Given the description of an element on the screen output the (x, y) to click on. 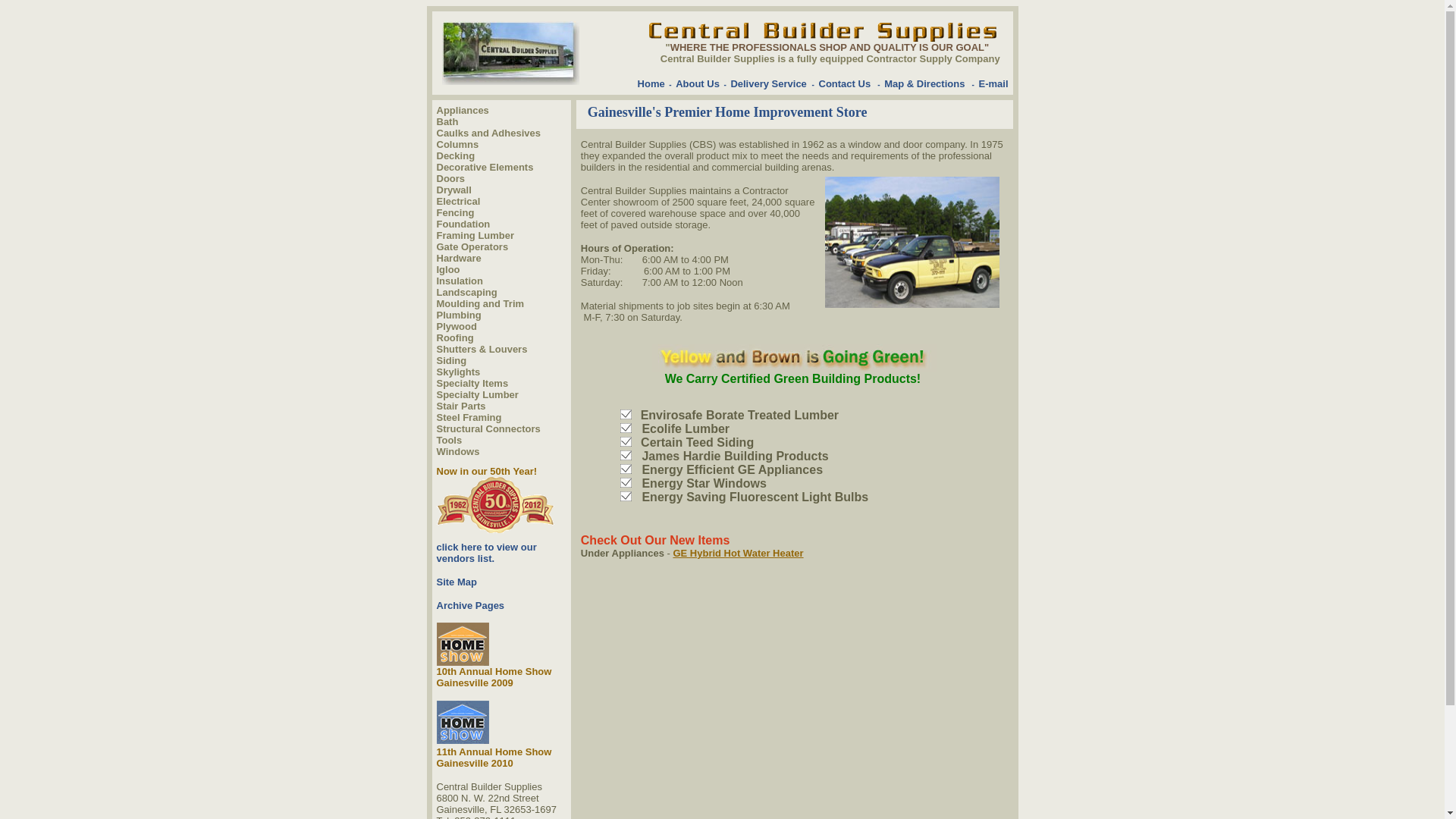
Fencing (455, 211)
Caulks and Adhesives (488, 132)
Hardware (458, 256)
Tools (449, 439)
Contact Us (844, 83)
E-mail (992, 83)
Igloo (448, 268)
Home (651, 82)
Delivery Service (768, 82)
Appliances (462, 109)
